Given the description of an element on the screen output the (x, y) to click on. 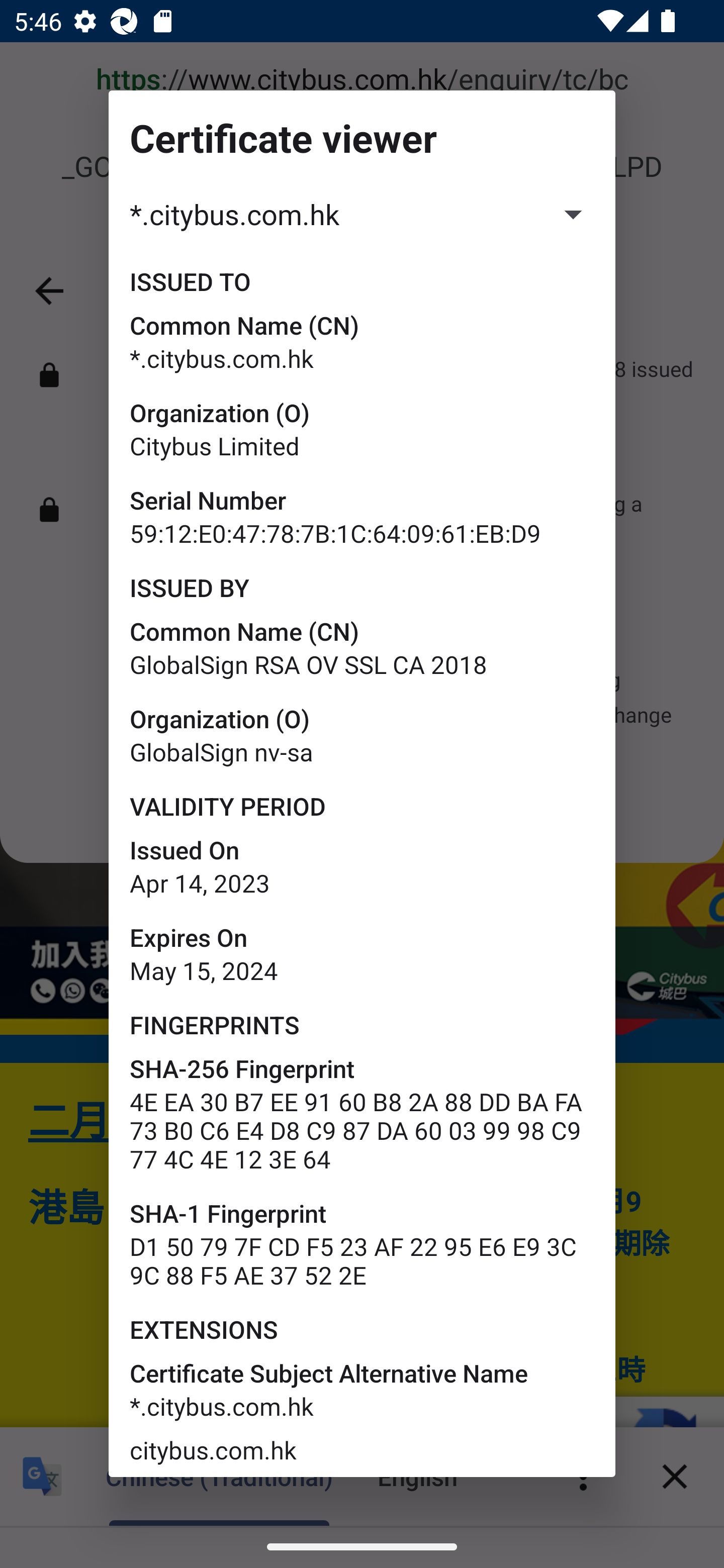
*.citybus.com.hk (361, 214)
